Given the description of an element on the screen output the (x, y) to click on. 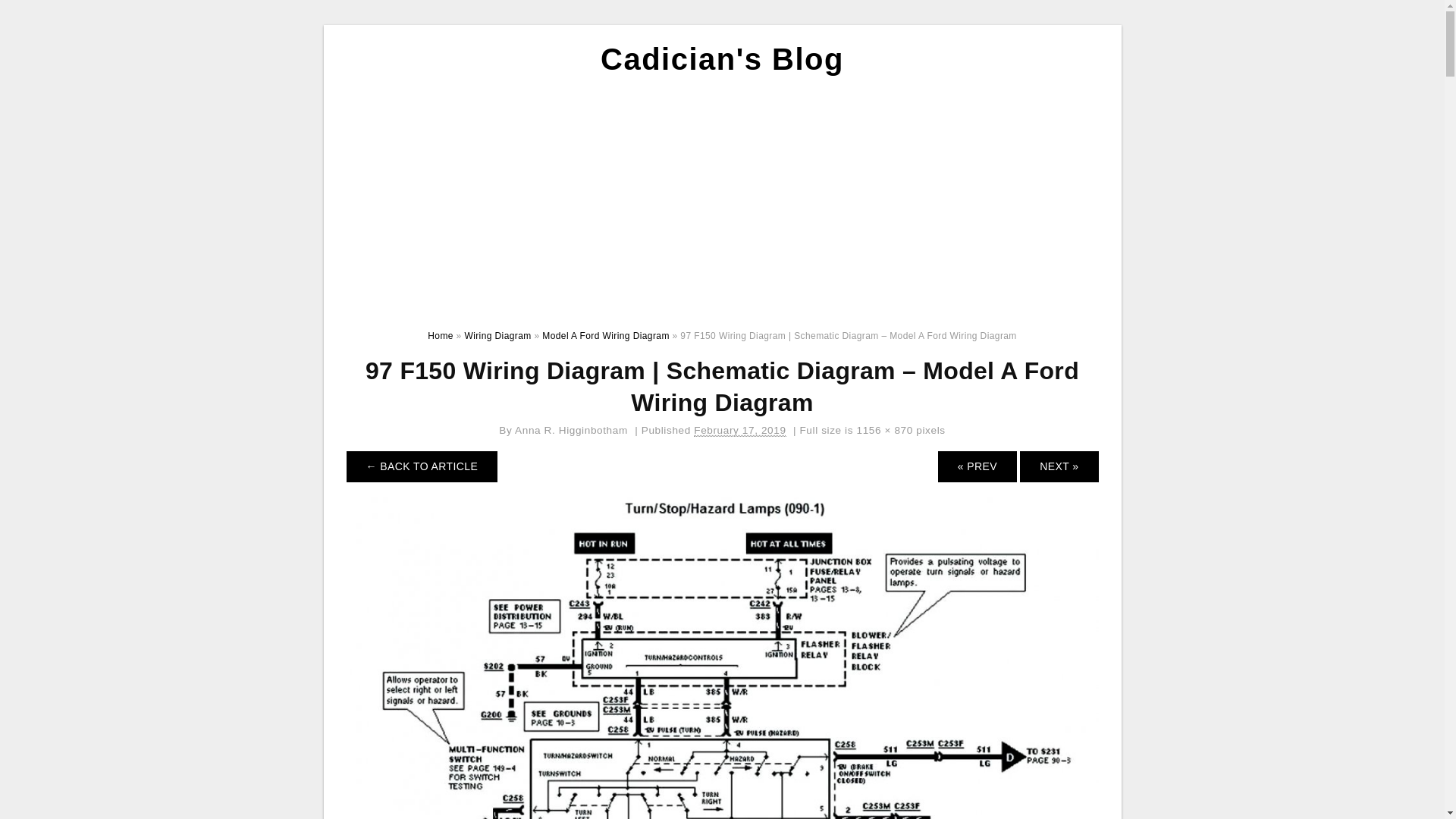
Wiring Diagram Element type: text (497, 335)
Cadician's Blog Element type: text (722, 58)
Model A Ford Wiring Diagram Element type: text (605, 335)
Advertisement Element type: hover (722, 199)
Anna R. Higginbotham Element type: text (570, 430)
Skip to content Element type: text (333, 24)
Home Element type: text (440, 335)
